Given the description of an element on the screen output the (x, y) to click on. 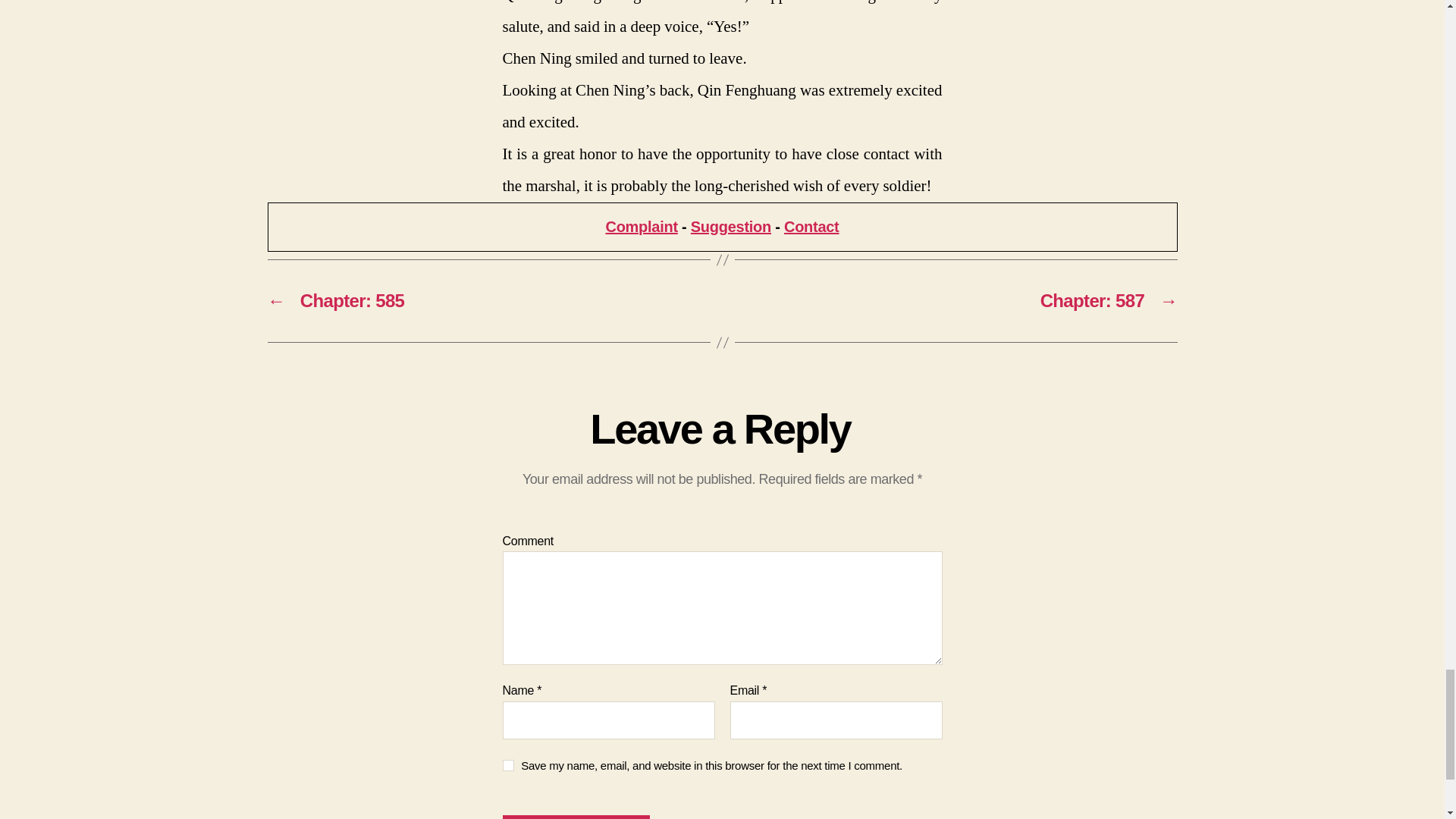
yes (507, 765)
Post Comment (575, 816)
Please wait until Google reCAPTCHA is loaded. (575, 816)
